Given the description of an element on the screen output the (x, y) to click on. 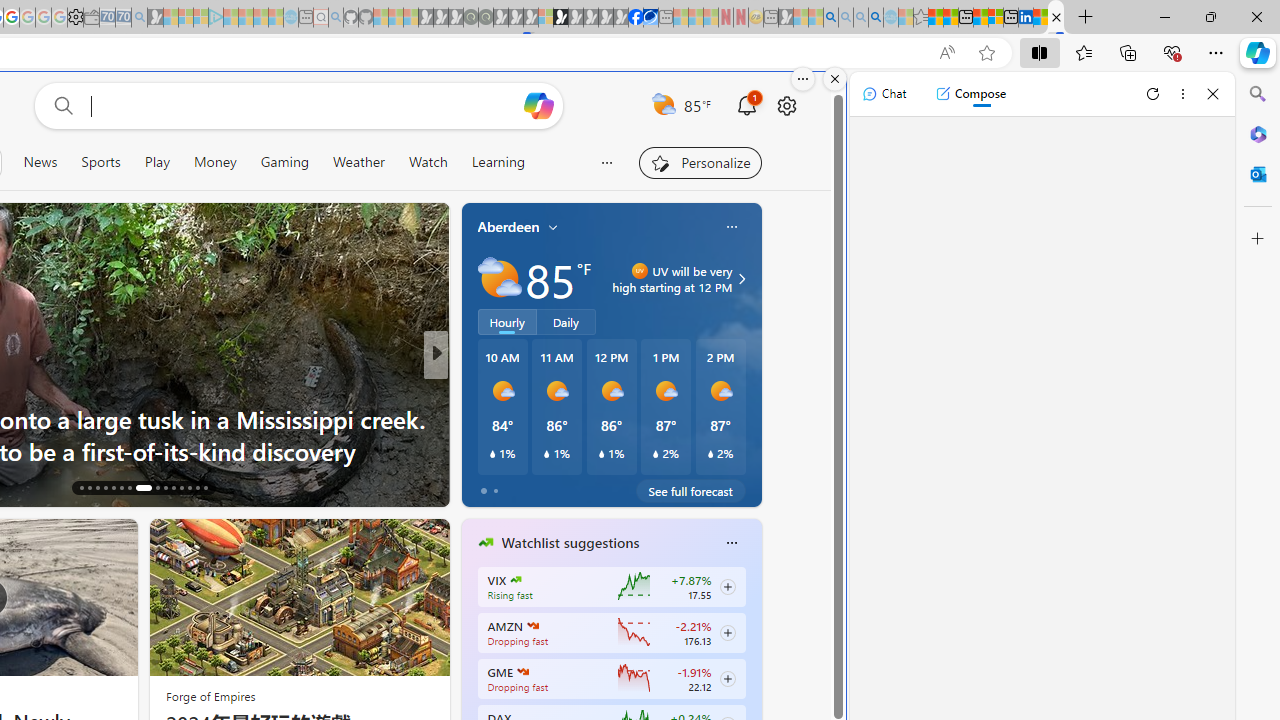
6 things that annoy every Windows PC user (758, 450)
Class: follow-button  m (727, 678)
AutomationID: tab-28 (189, 487)
LinkedIn (1025, 17)
MSN - Sleeping (786, 17)
